Given the description of an element on the screen output the (x, y) to click on. 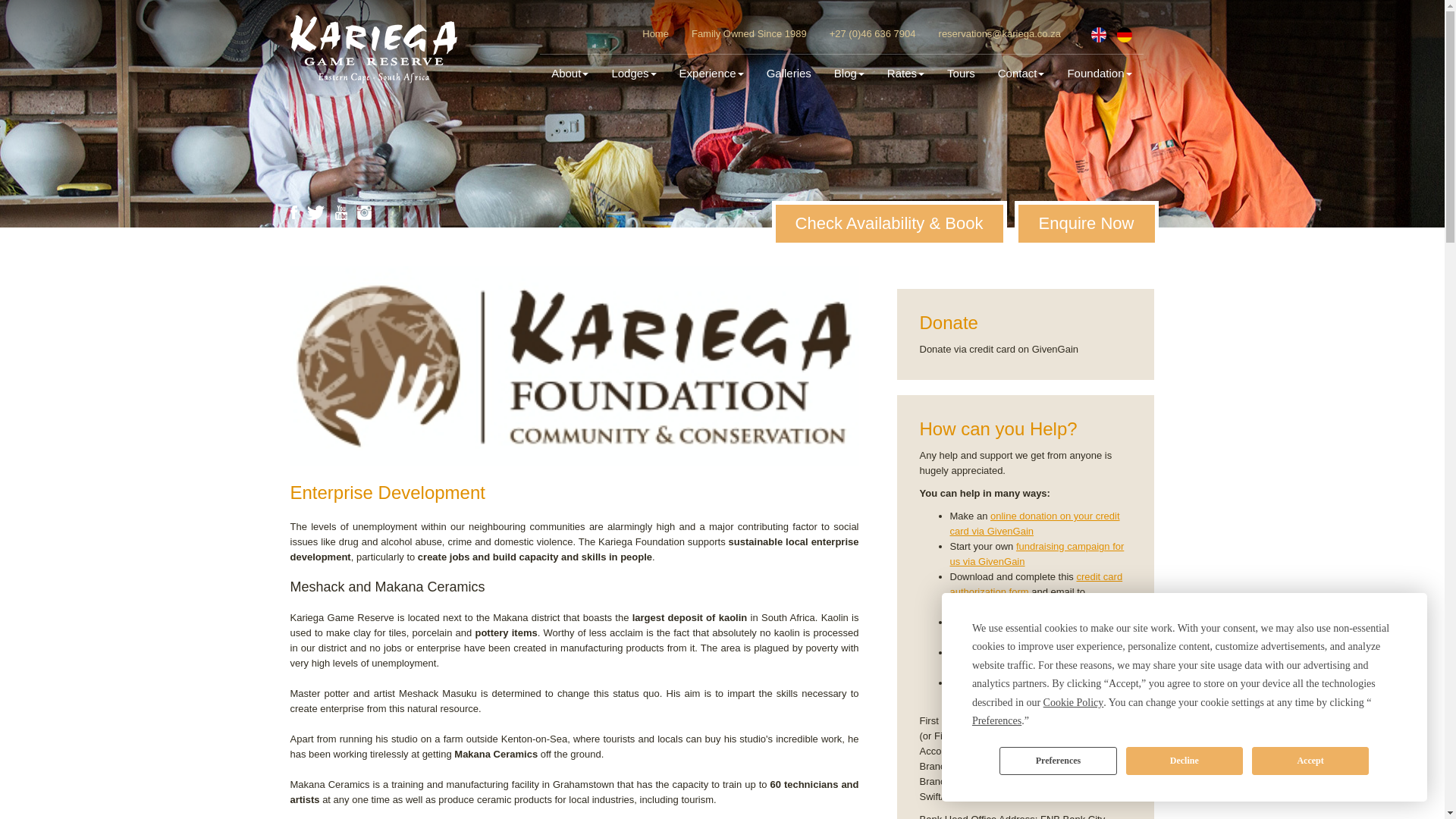
Preferences (1057, 760)
Decline (1184, 760)
About (569, 73)
Accept (1310, 760)
Cookie Policy (1073, 702)
Lodges (632, 73)
Home (655, 33)
Kariega Foundation (574, 366)
Preferences (997, 721)
Kariega Foundation Credit Card Form (1035, 583)
Experience (711, 73)
